Given the description of an element on the screen output the (x, y) to click on. 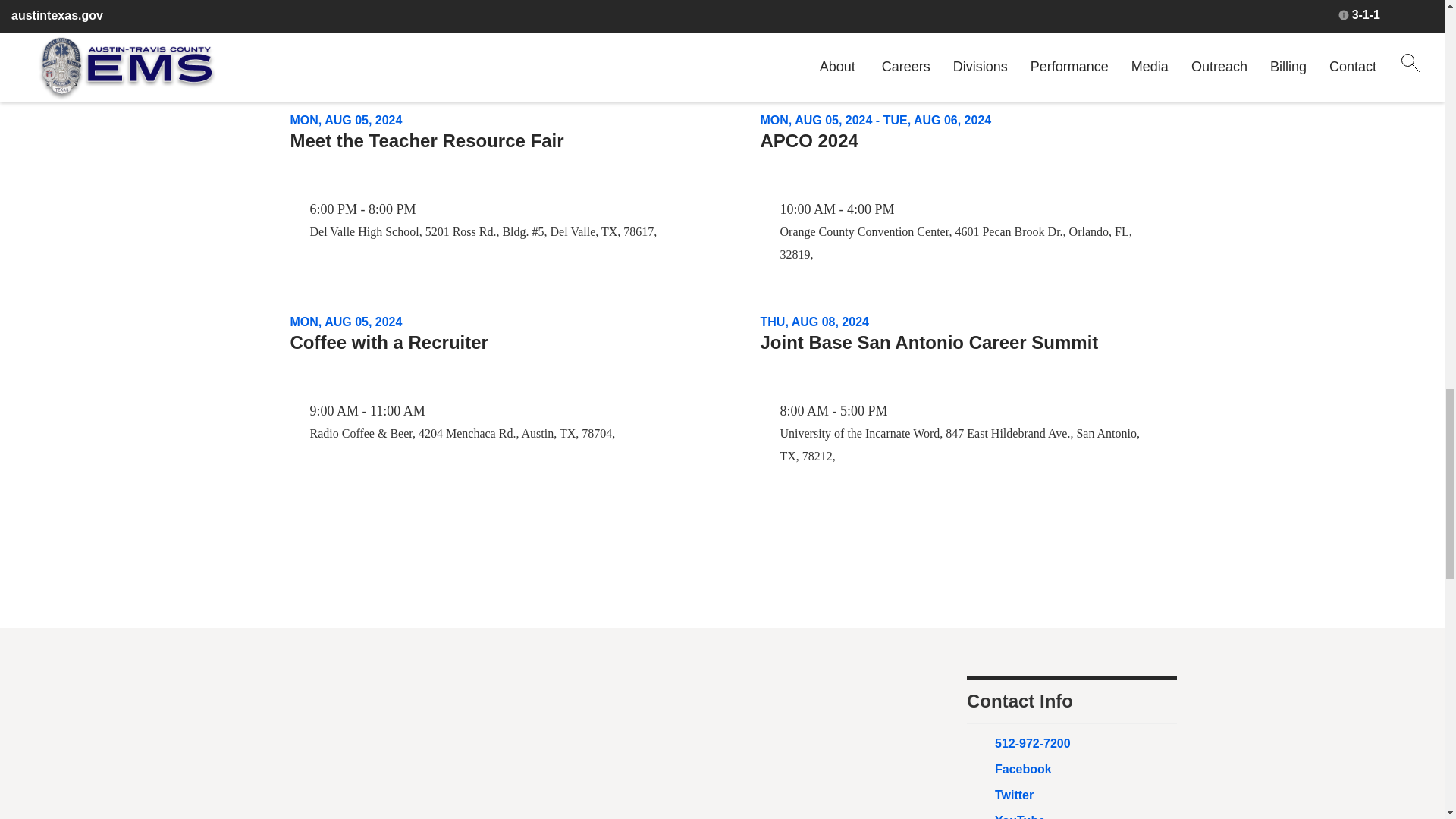
Meet the Teacher Resource Fair (426, 140)
APCO 2024 (808, 140)
